Given the description of an element on the screen output the (x, y) to click on. 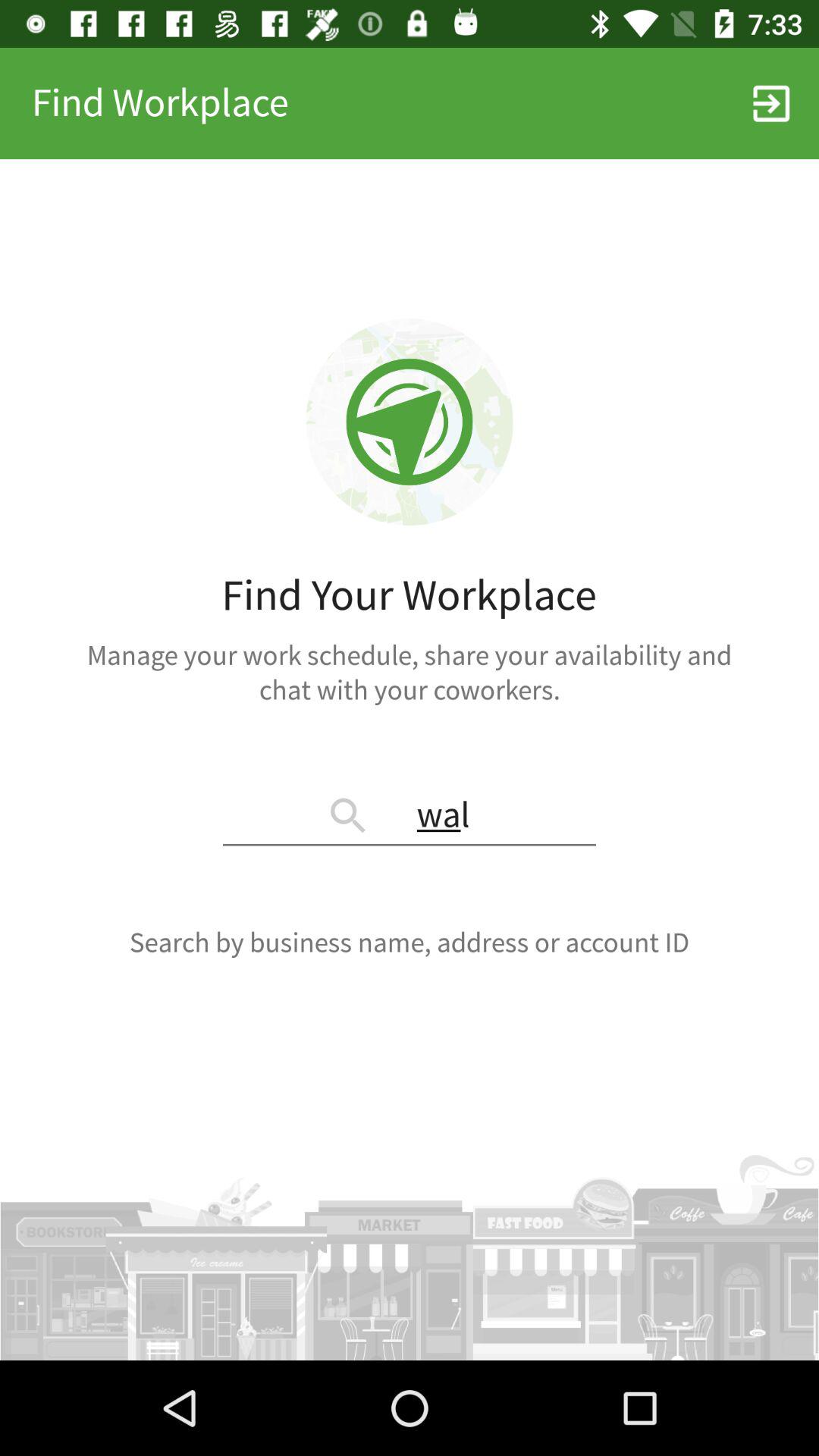
turn on item to the right of the find workplace icon (771, 103)
